Given the description of an element on the screen output the (x, y) to click on. 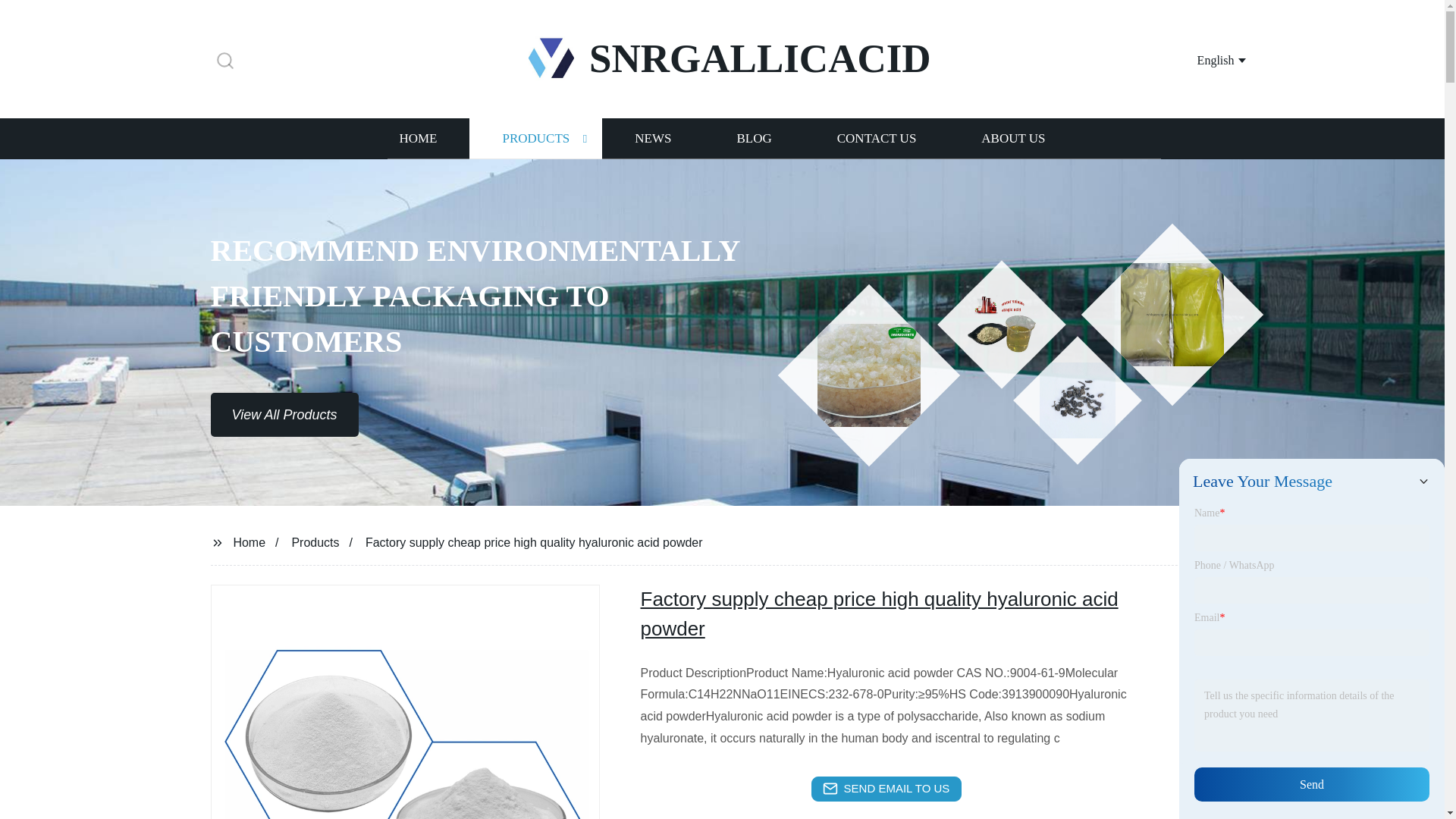
Top (1404, 778)
ABOUT US (1013, 137)
NEWS (652, 137)
Products (315, 541)
English (1203, 59)
CONTACT US (877, 137)
Home (248, 541)
English (1203, 59)
HOME (417, 137)
PRODUCTS (535, 137)
SEND EMAIL TO US (885, 788)
BLOG (753, 137)
